Given the description of an element on the screen output the (x, y) to click on. 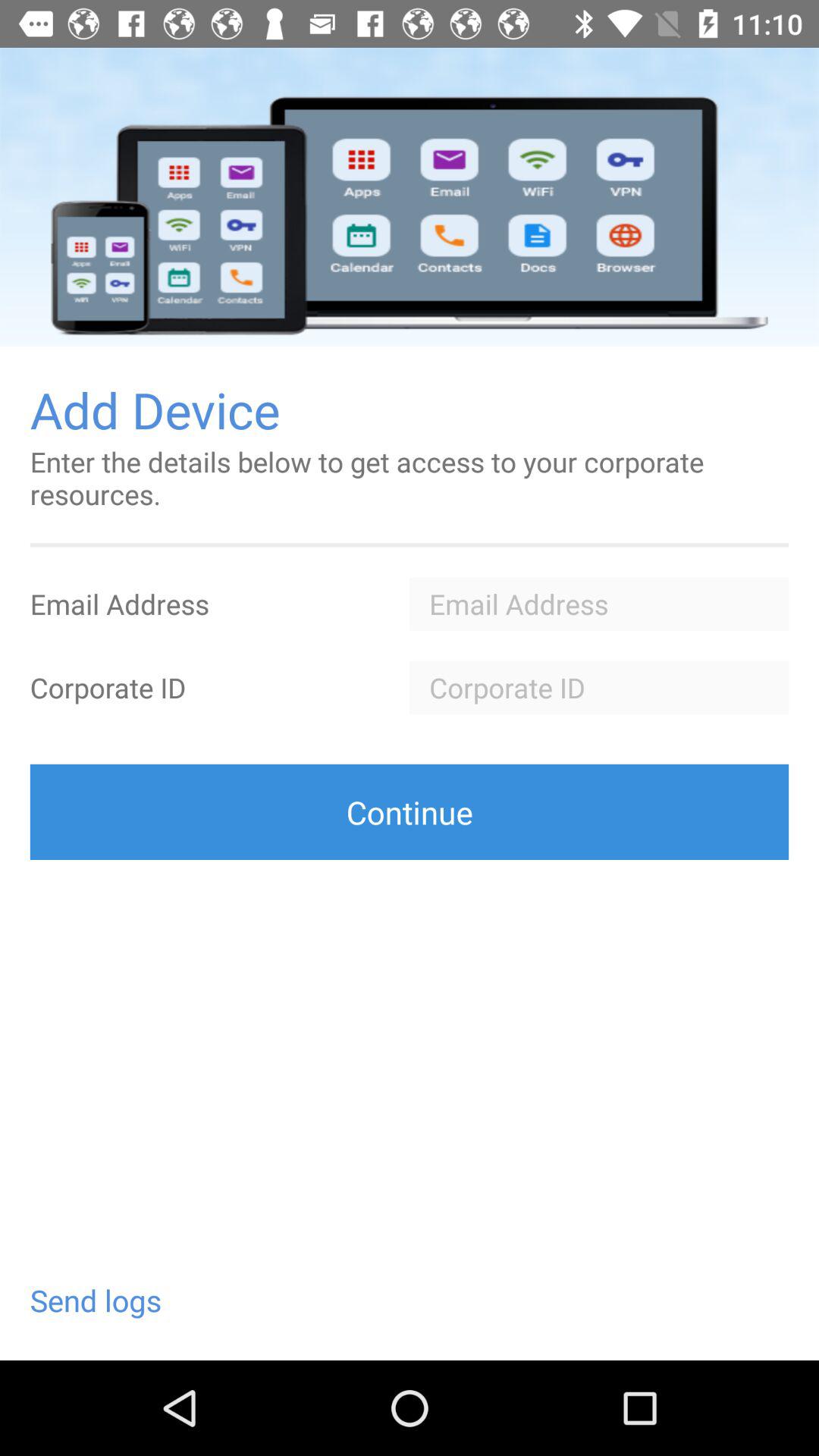
enter corporate id (598, 687)
